Given the description of an element on the screen output the (x, y) to click on. 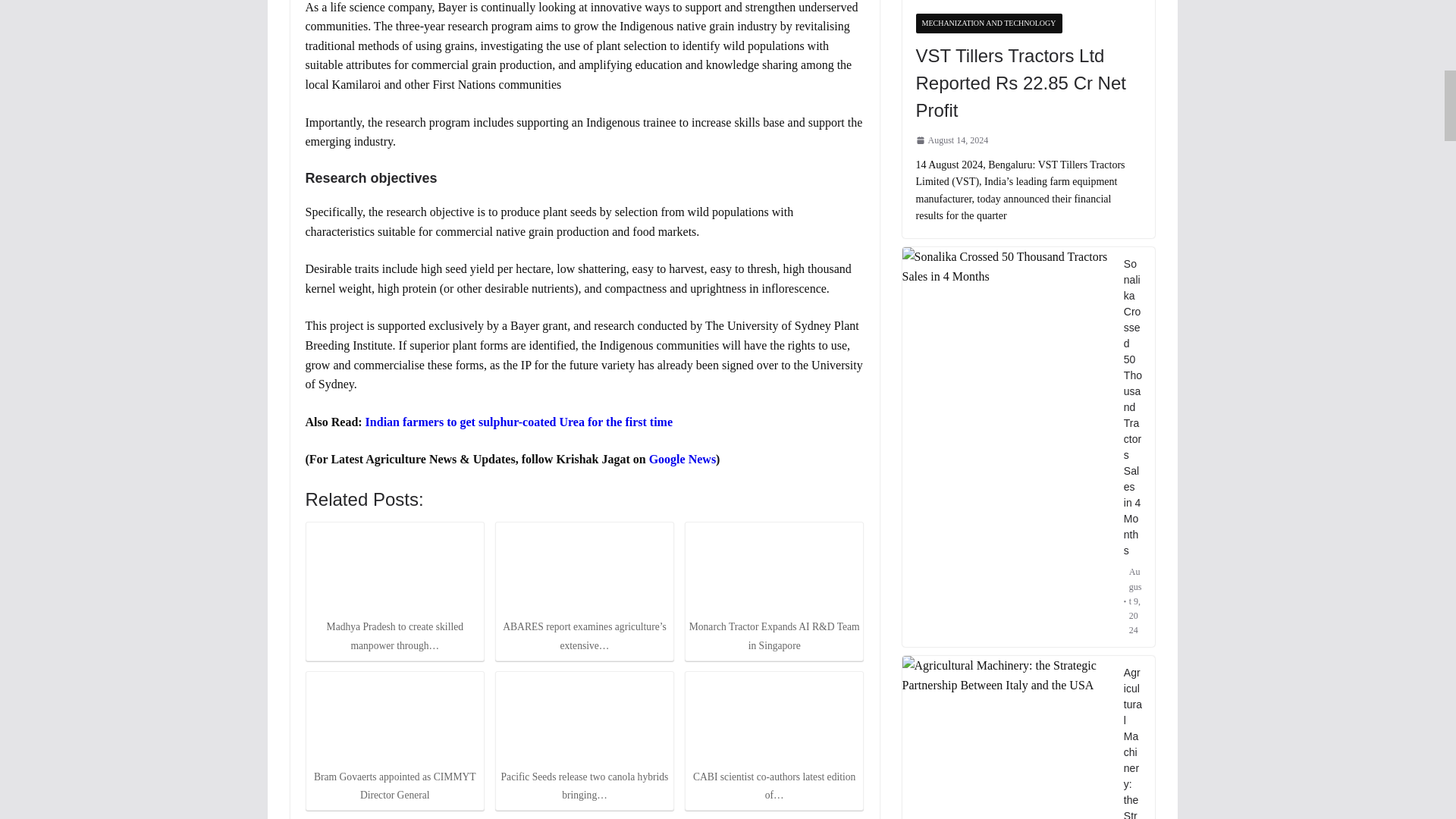
Bram Govaerts appointed as CIMMYT Director General (394, 719)
